Given the description of an element on the screen output the (x, y) to click on. 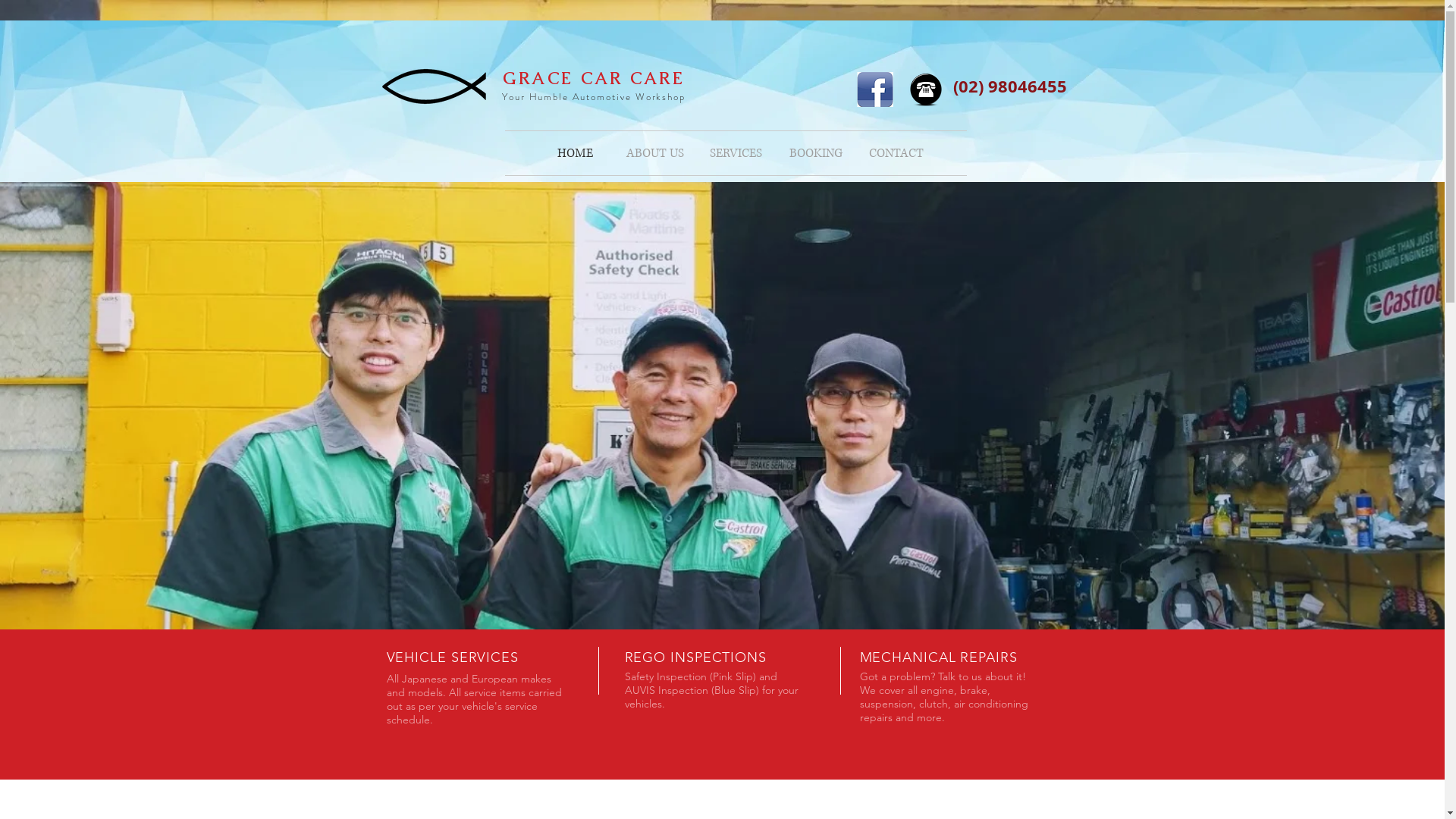
SERVICES Element type: text (735, 153)
BOOKING Element type: text (815, 153)
ABOUT US Element type: text (655, 153)
CONTACT Element type: text (896, 153)
HOME Element type: text (574, 153)
GRACE CAR CARE Element type: text (593, 78)
